Given the description of an element on the screen output the (x, y) to click on. 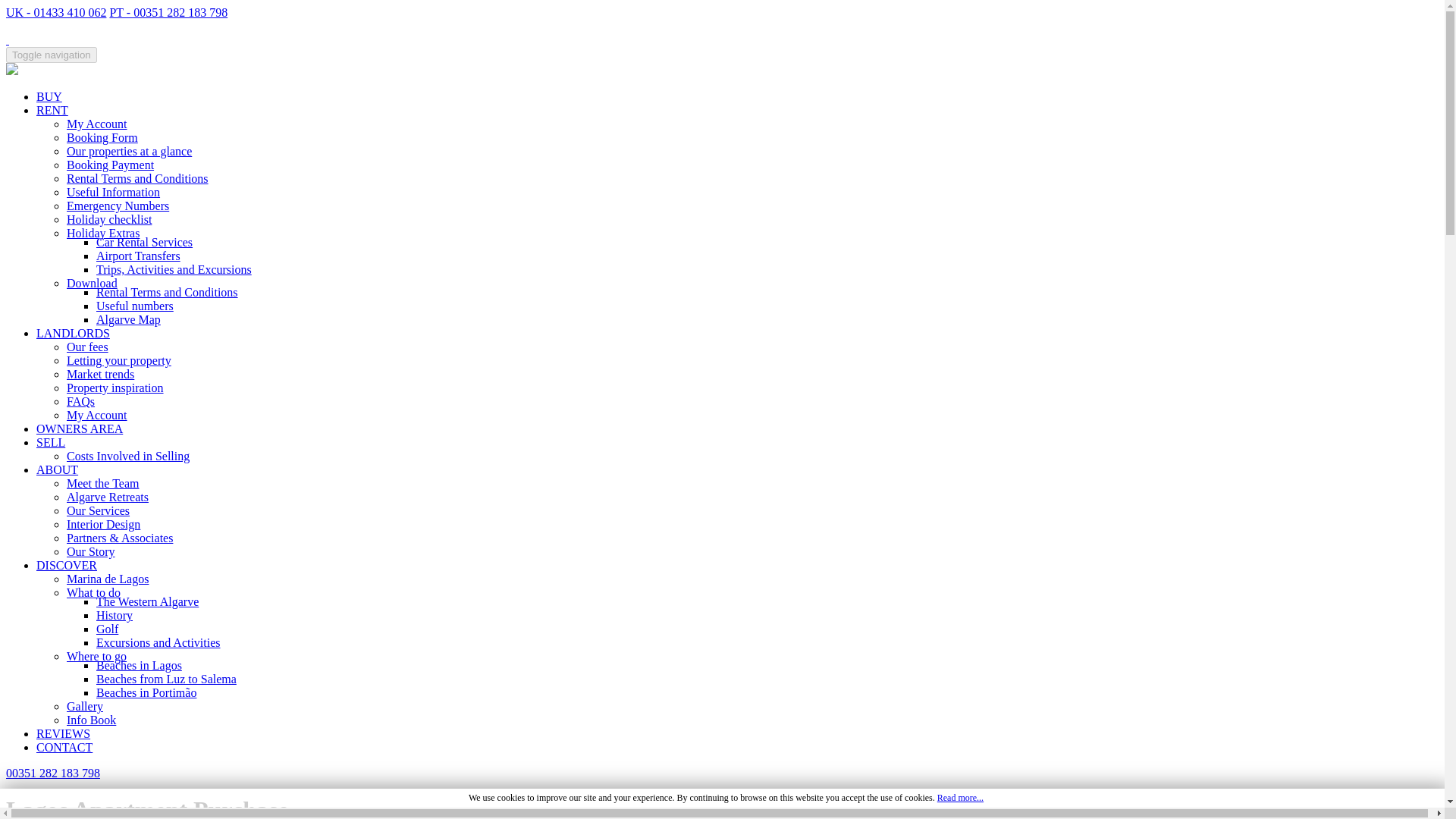
Call NOW - Portugal (168, 11)
BUY (49, 96)
UK - 01433 410 062 (55, 11)
Toggle navigation (51, 54)
PT - 00351 282 183 798 (168, 11)
Property inspiration (114, 387)
Emergency Numbers (117, 205)
SELL (50, 441)
Algarve Map (128, 318)
Download (91, 282)
